Given the description of an element on the screen output the (x, y) to click on. 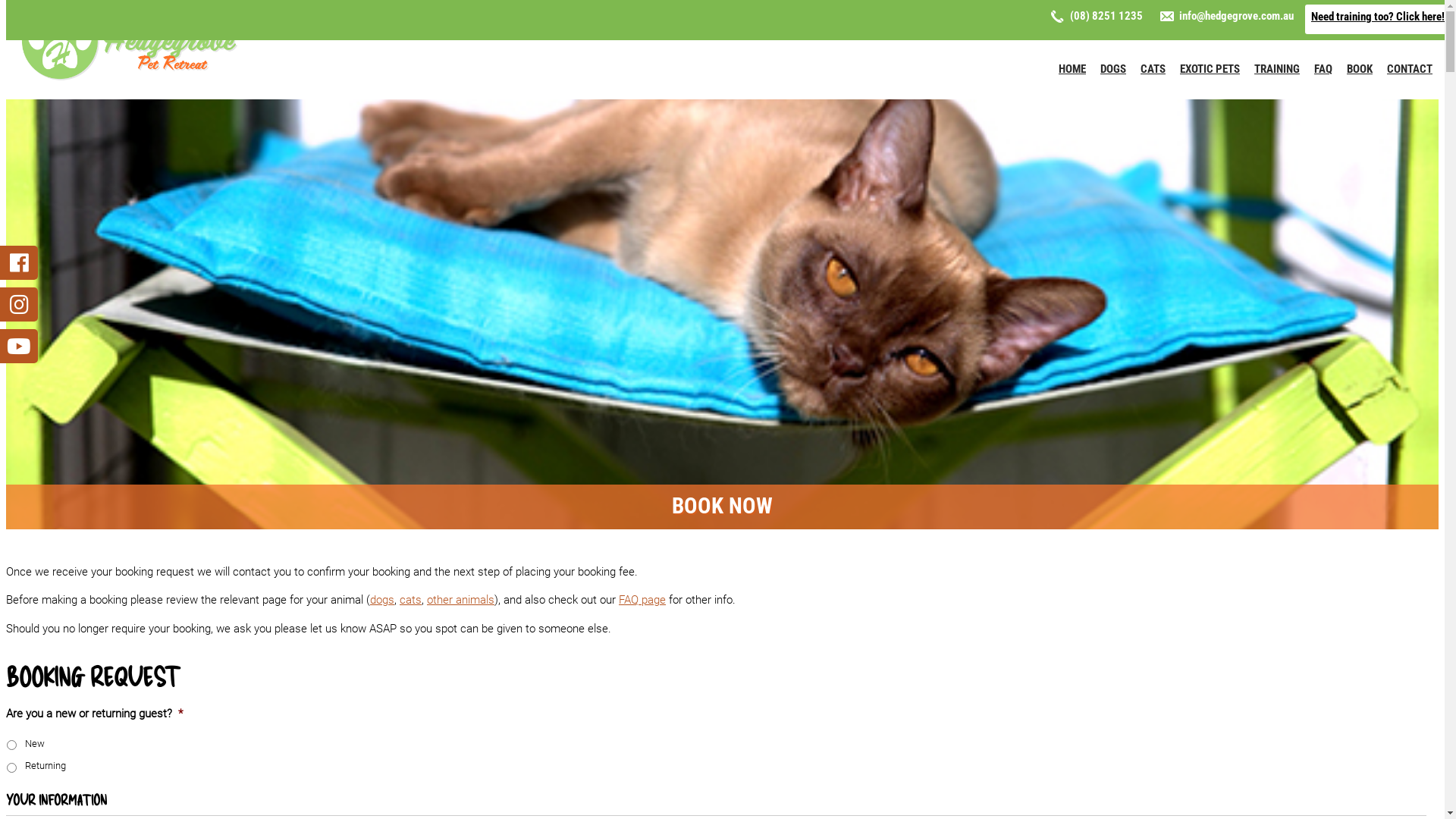
CATS Element type: text (1152, 68)
dogs Element type: text (382, 599)
cats Element type: text (410, 599)
TRAINING Element type: text (1276, 68)
HOME Element type: text (1072, 68)
other animals Element type: text (460, 599)
FAQ page Element type: text (641, 599)
DOGS Element type: text (1113, 68)
Need training too? Click here! Element type: text (1377, 19)
CONTACT Element type: text (1409, 68)
EXOTIC PETS Element type: text (1209, 68)
BOOK Element type: text (1359, 68)
FAQ Element type: text (1323, 68)
